Given the description of an element on the screen output the (x, y) to click on. 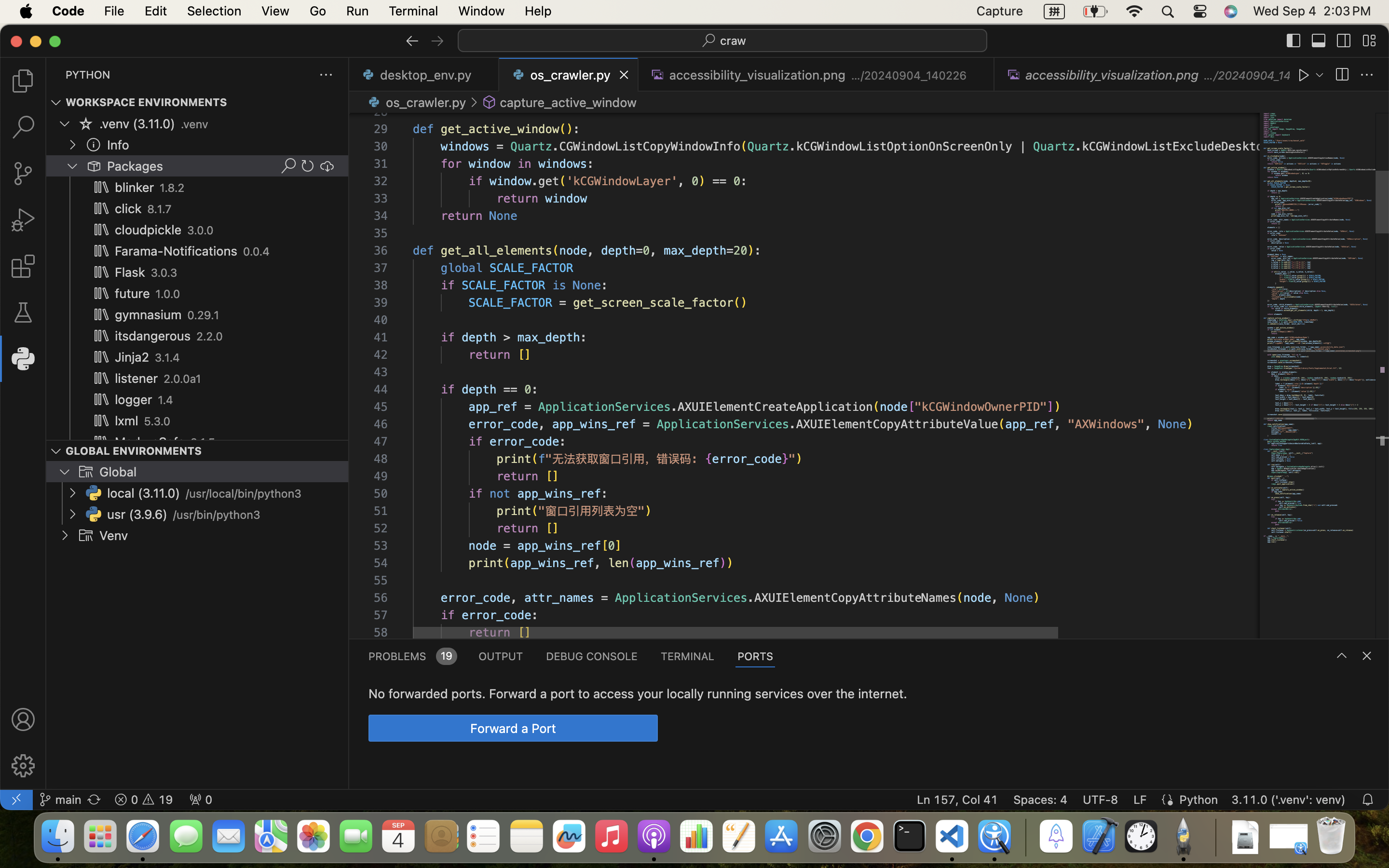
 Element type: AXStaticText (85, 471)
2.2.0 Element type: AXStaticText (208, 336)
…/20240904_140226 Element type: AXStaticText (908, 74)
 Element type: AXStaticText (473, 101)
Info Element type: AXStaticText (118, 144)
